Given the description of an element on the screen output the (x, y) to click on. 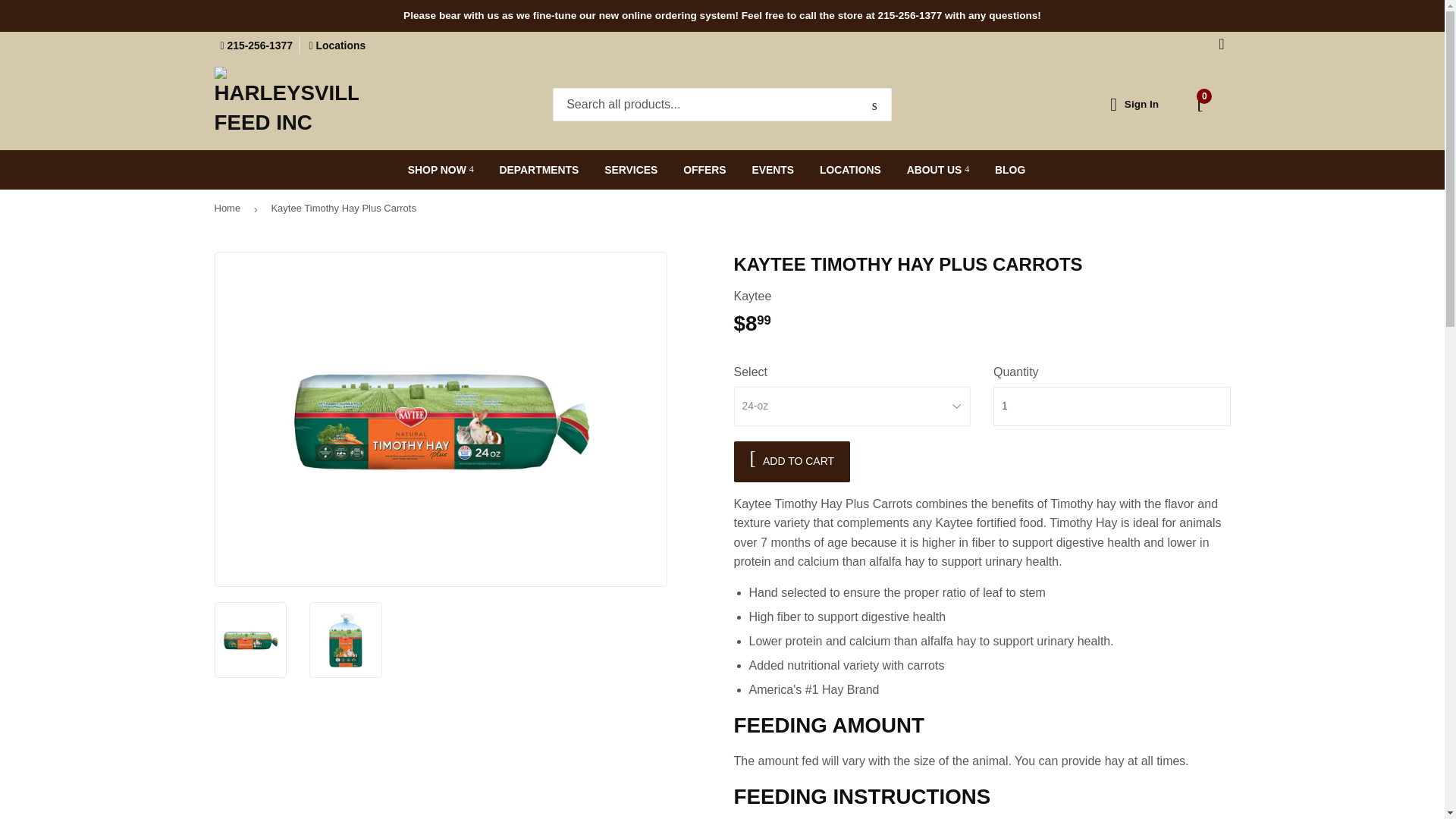
Open Product Zoom (441, 418)
1 (1111, 405)
0 (1201, 104)
 Locations (337, 45)
SEARCH (874, 105)
 215-256-1377 (255, 45)
Sign In (1141, 103)
